Given the description of an element on the screen output the (x, y) to click on. 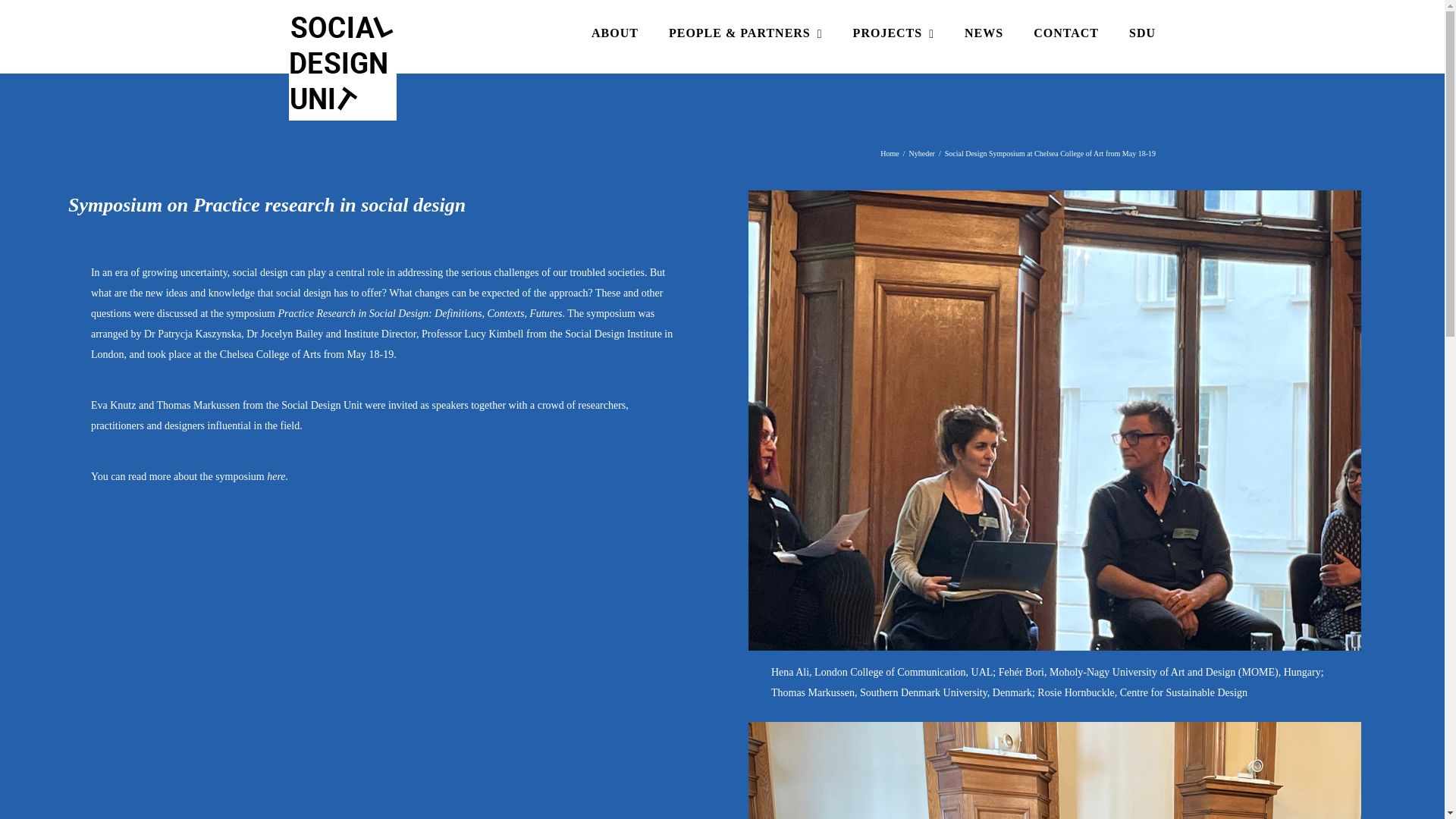
here (275, 476)
Nyheder (921, 153)
Home (889, 153)
CONTACT (1066, 33)
PROJECTS (893, 33)
ABOUT (615, 33)
